Given the description of an element on the screen output the (x, y) to click on. 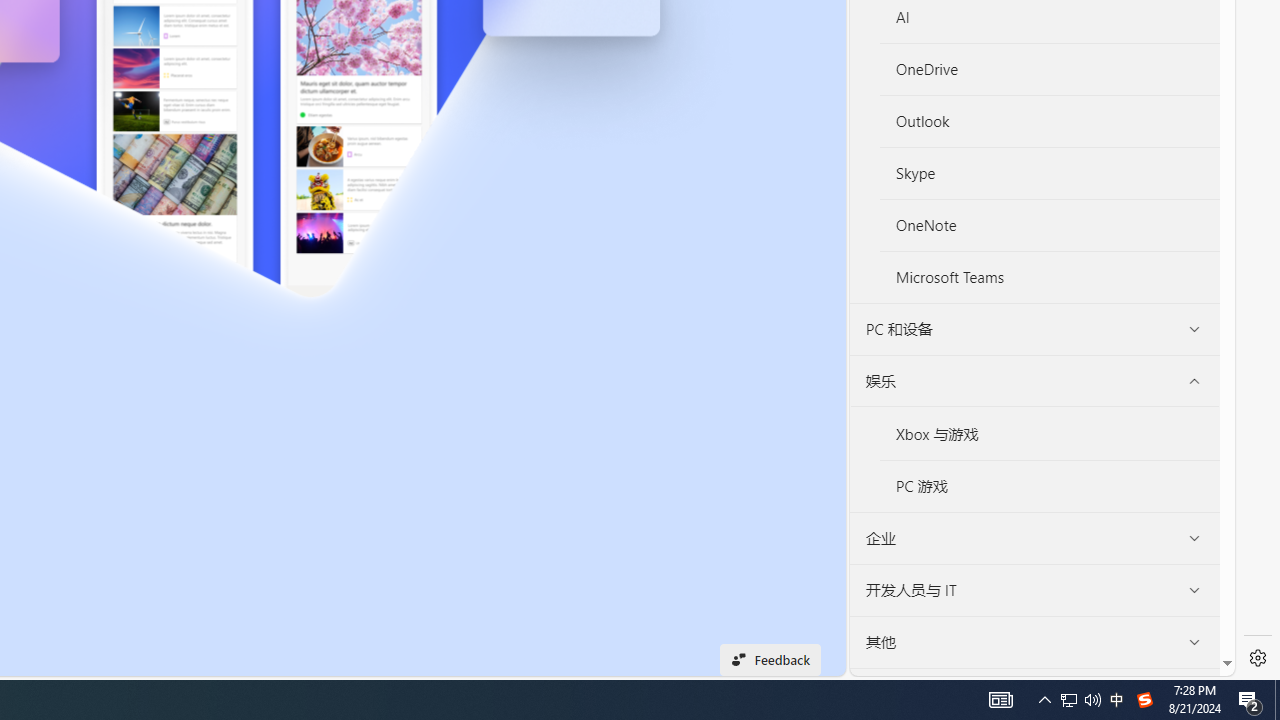
Microsoft Teams (1049, 276)
OneNote (1049, 224)
